Given the description of an element on the screen output the (x, y) to click on. 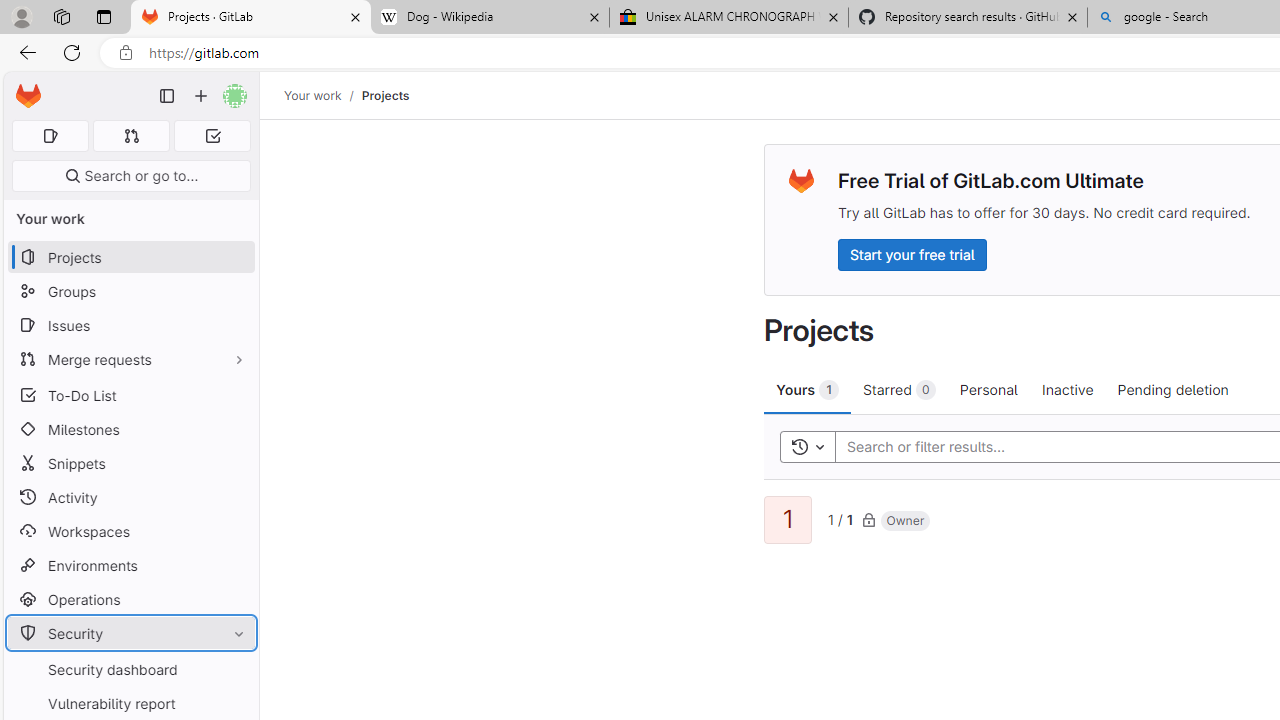
Yours 1 (808, 389)
Issues (130, 325)
Milestones (130, 429)
Merge requests 0 (131, 136)
Snippets (130, 463)
Vulnerability report (130, 703)
Toggle history (807, 445)
Environments (130, 564)
Merge requests (130, 358)
Inactive (1067, 389)
Security (130, 633)
